Given the description of an element on the screen output the (x, y) to click on. 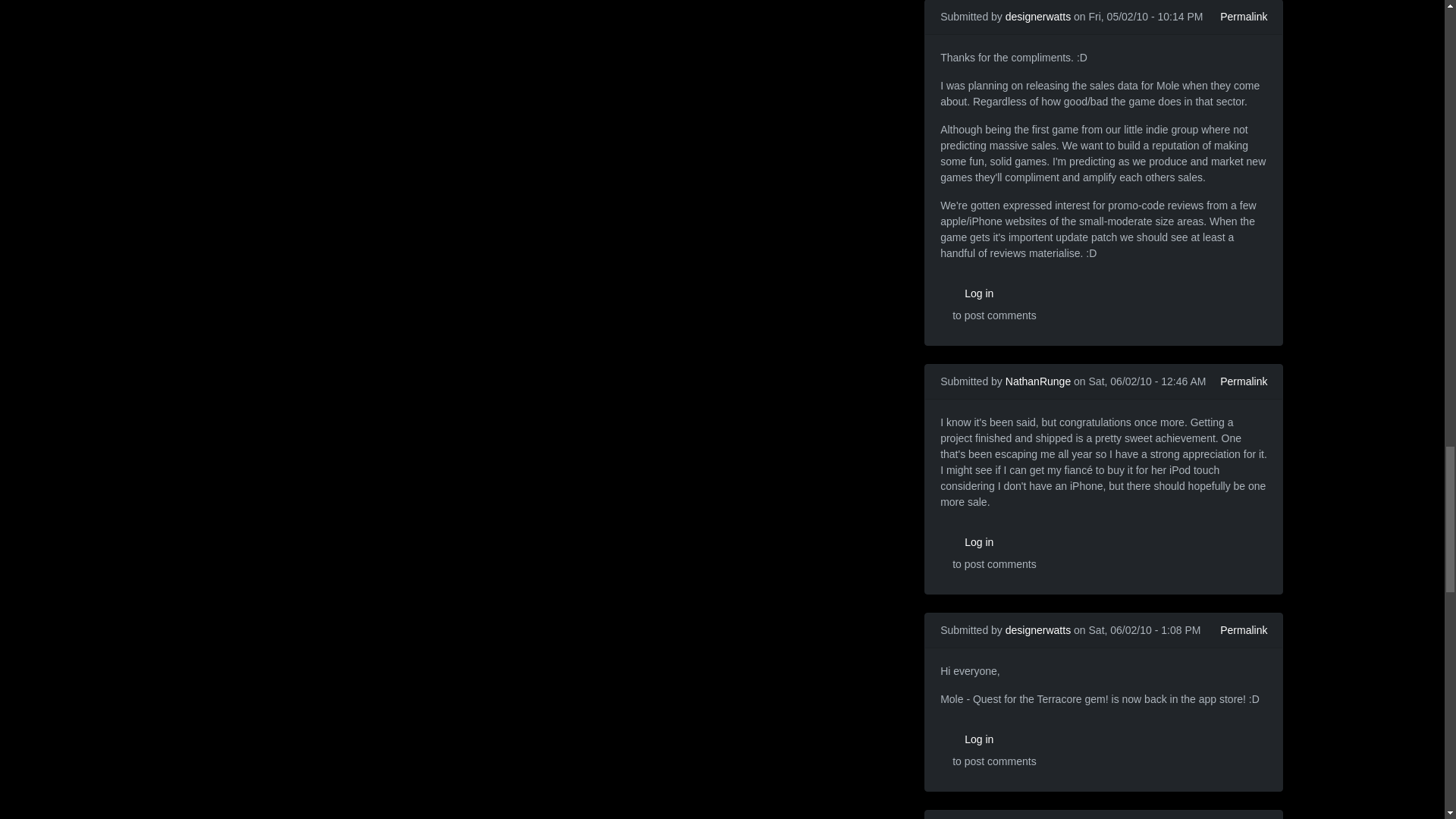
View user profile. (1038, 381)
View user profile. (1038, 630)
View user profile. (1038, 16)
